Given the description of an element on the screen output the (x, y) to click on. 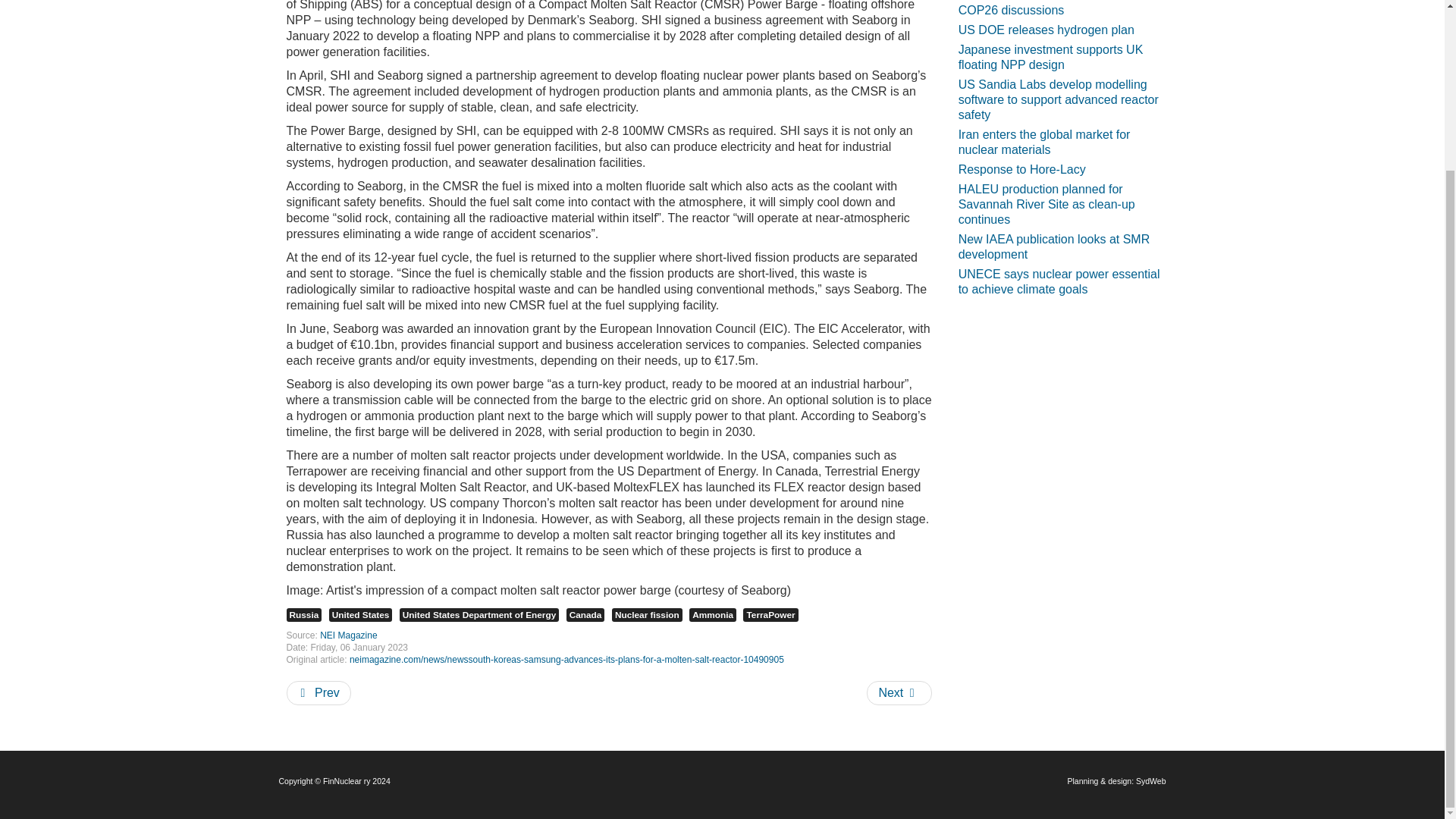
United States Department of Energy (478, 614)
Prev (318, 692)
NEI Magazine (348, 634)
UNECE says nuclear power essential to achieve climate goals (1062, 281)
SydWeb (1150, 780)
Ammonia (712, 614)
GIF calls for nuclear's inclusion in COP26 discussions (1062, 10)
Russia (303, 614)
Canada (585, 614)
United States (361, 614)
US DOE releases hydrogen plan (1046, 30)
New IAEA publication looks at SMR development (1062, 247)
Nuclear fission (646, 614)
